Given the description of an element on the screen output the (x, y) to click on. 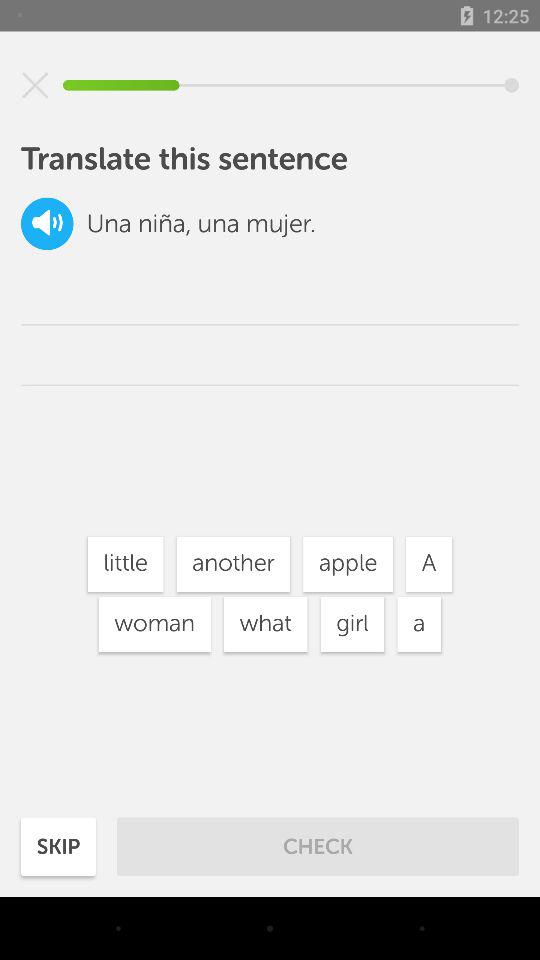
choose the little icon (125, 563)
